Given the description of an element on the screen output the (x, y) to click on. 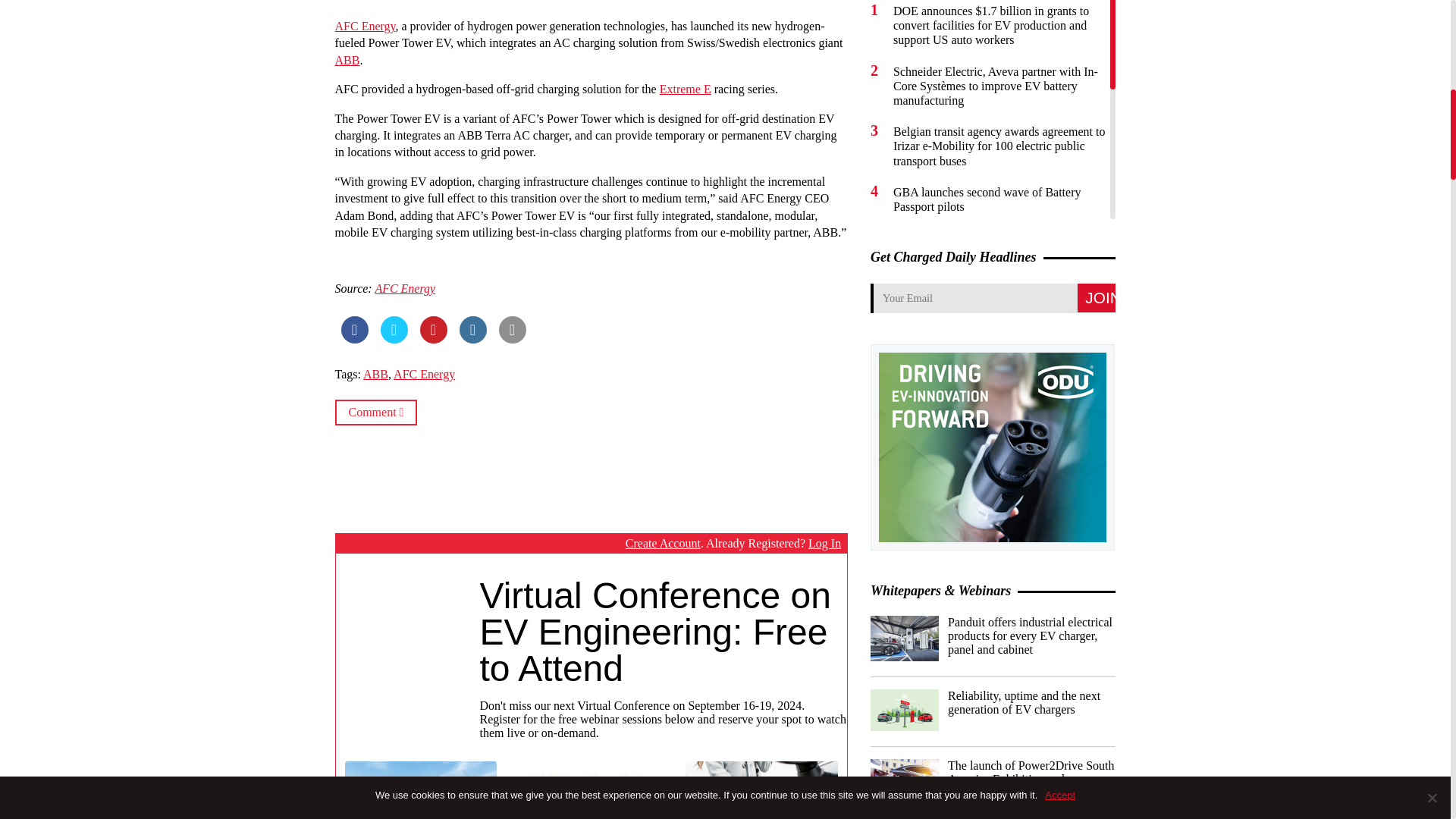
Join (1096, 297)
